Given the description of an element on the screen output the (x, y) to click on. 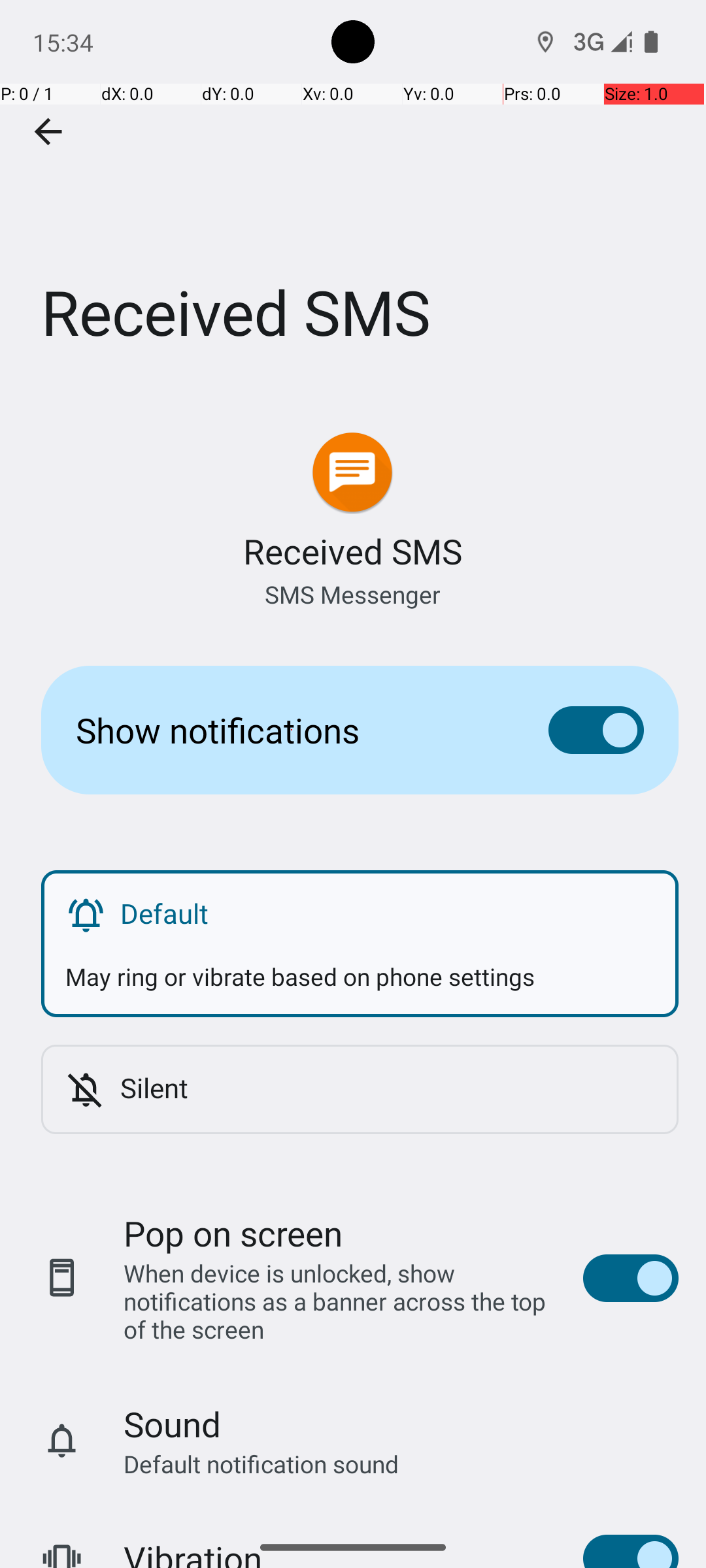
Received SMS Element type: android.widget.FrameLayout (353, 195)
Show notifications Element type: android.widget.TextView (291, 729)
Pop on screen Element type: android.widget.TextView (233, 1232)
When device is unlocked, show notifications as a banner across the top of the screen Element type: android.widget.TextView (339, 1300)
Sound Element type: android.widget.TextView (171, 1423)
Default notification sound Element type: android.widget.TextView (260, 1463)
Default Element type: android.widget.TextView (387, 912)
May ring or vibrate based on phone settings Element type: android.widget.TextView (359, 964)
Silent Element type: android.widget.TextView (387, 1087)
